Given the description of an element on the screen output the (x, y) to click on. 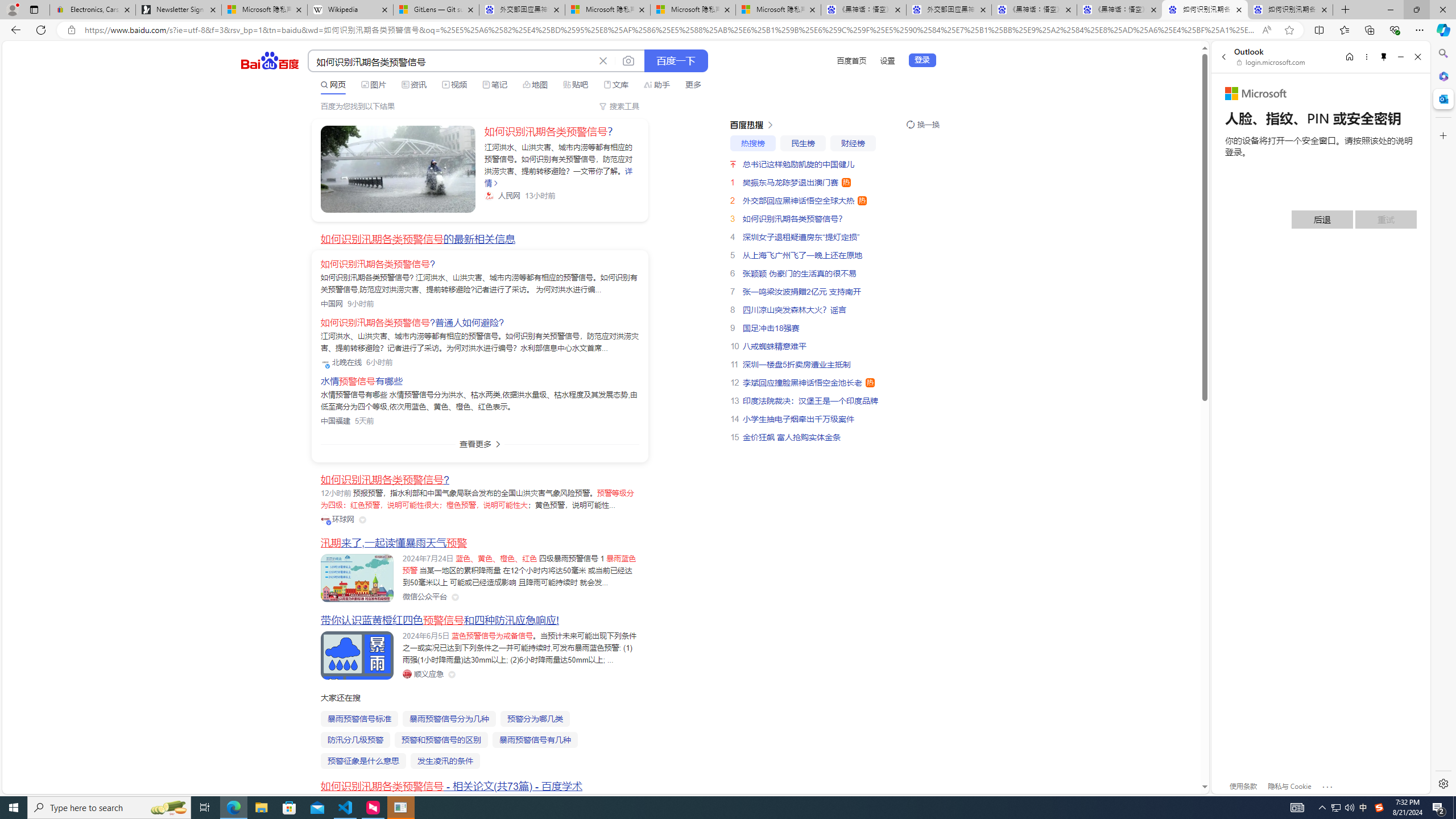
AutomationID: kw (451, 61)
Class: sc-link _link_kwqvb_2 -v-color-primary block (398, 168)
